Given the description of an element on the screen output the (x, y) to click on. 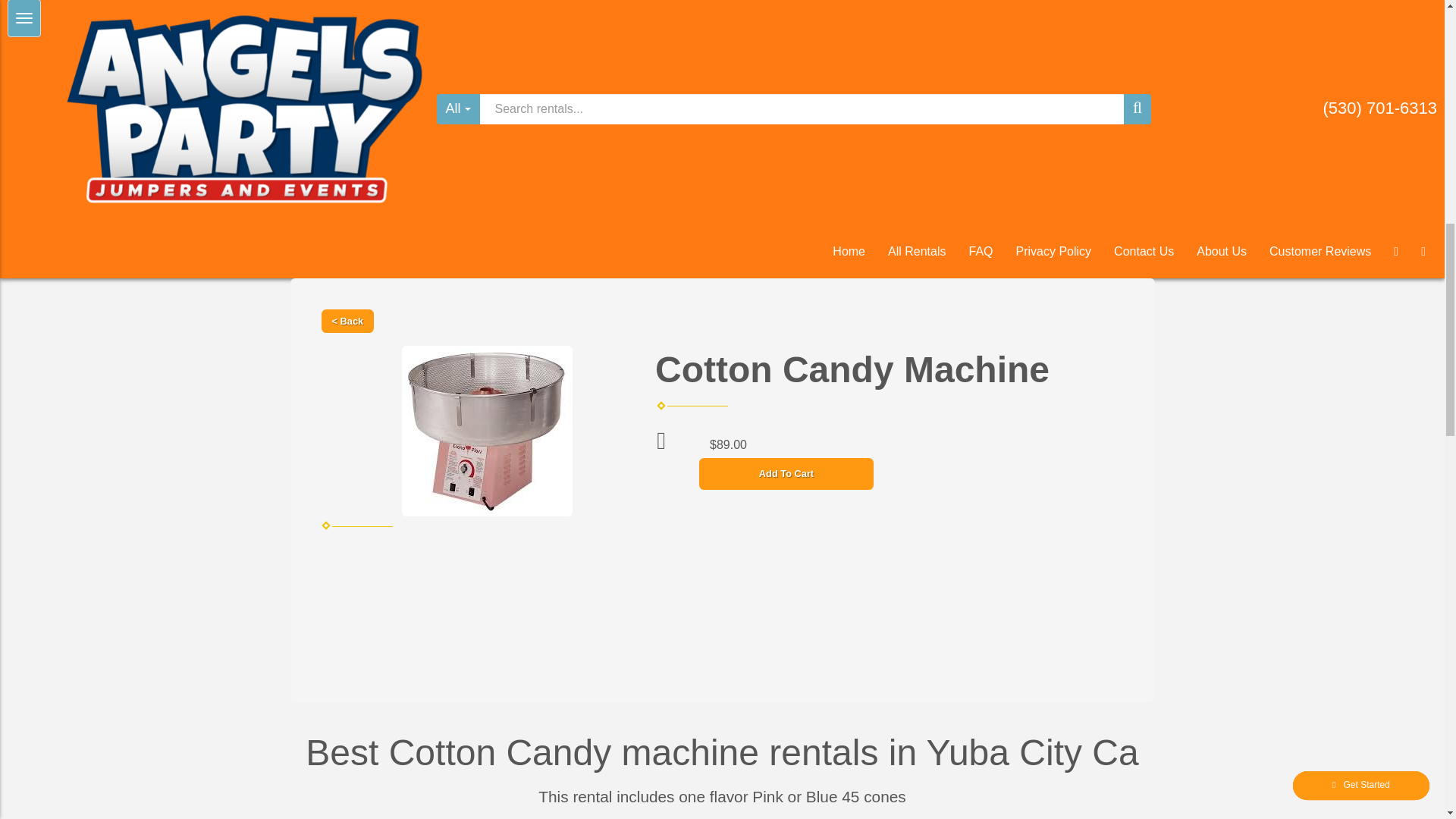
Home (848, 251)
Cotton Candy Machine (486, 430)
About Us (1221, 251)
All Rentals (916, 251)
Privacy Policy (1053, 251)
Contact Us (1143, 251)
FAQ (980, 251)
All (458, 109)
Customer Reviews (1319, 251)
